Given the description of an element on the screen output the (x, y) to click on. 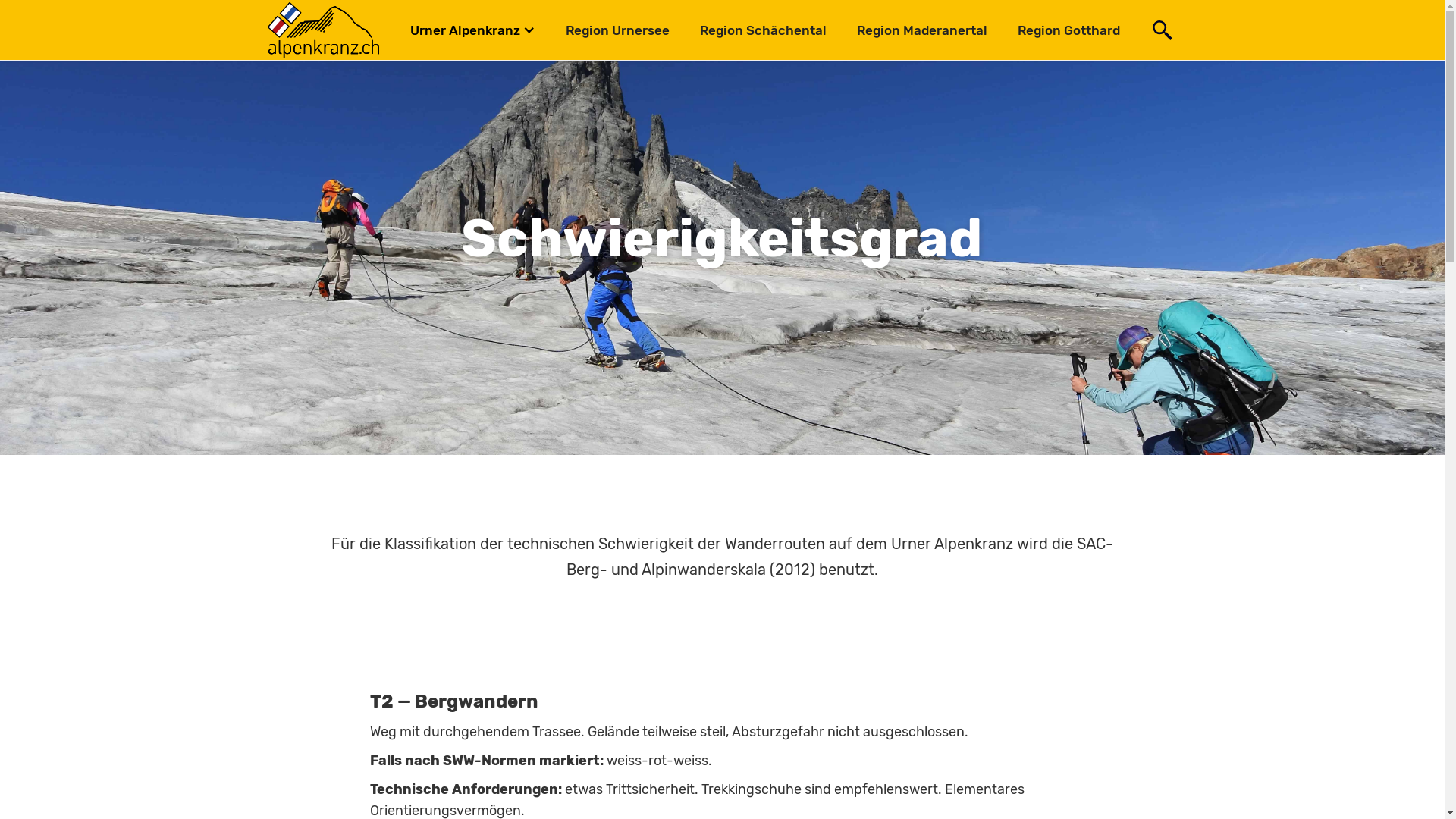
Region Maderanertal Element type: text (921, 30)
info@urnerwanderwege.ch Element type: text (354, 562)
Links Element type: text (753, 597)
Region Gotthard Element type: text (1068, 30)
Urner Wanderwege Element type: text (797, 524)
Partner & Sponsoren Element type: text (801, 560)
Region Urnersee Element type: text (617, 30)
Home Element type: text (755, 497)
Datenschutz Element type: text (1143, 793)
041 870 64 17 Element type: text (310, 597)
Impressum Element type: text (1068, 793)
